Given the description of an element on the screen output the (x, y) to click on. 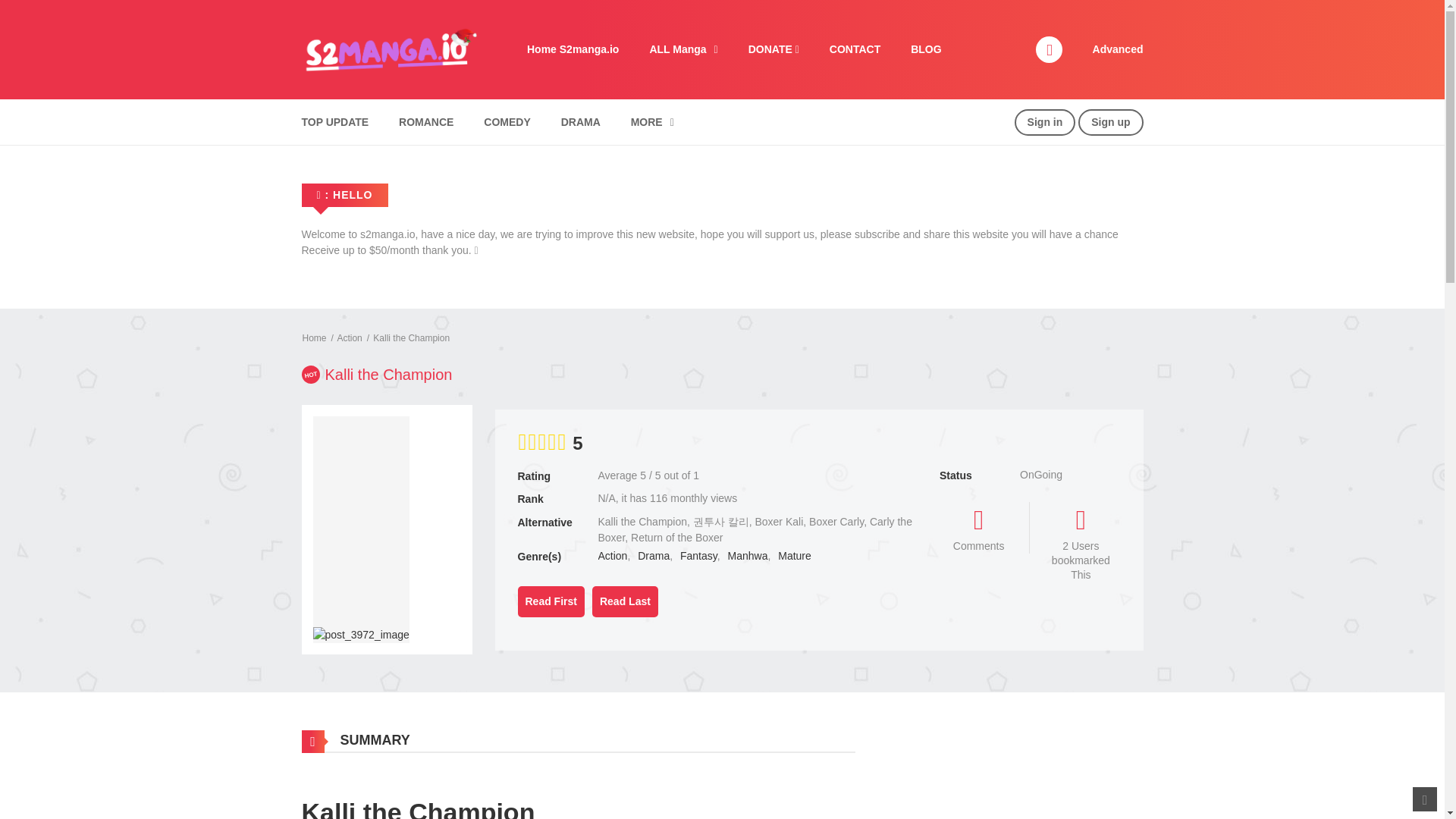
Advanced (1117, 49)
Search (970, 9)
ROMANCE (425, 122)
S2 MANGA (389, 48)
DRAMA (580, 122)
MORE (652, 122)
CONTACT (854, 49)
Home S2manga.io (572, 49)
ALL Manga (682, 49)
BLOG (925, 49)
